Given the description of an element on the screen output the (x, y) to click on. 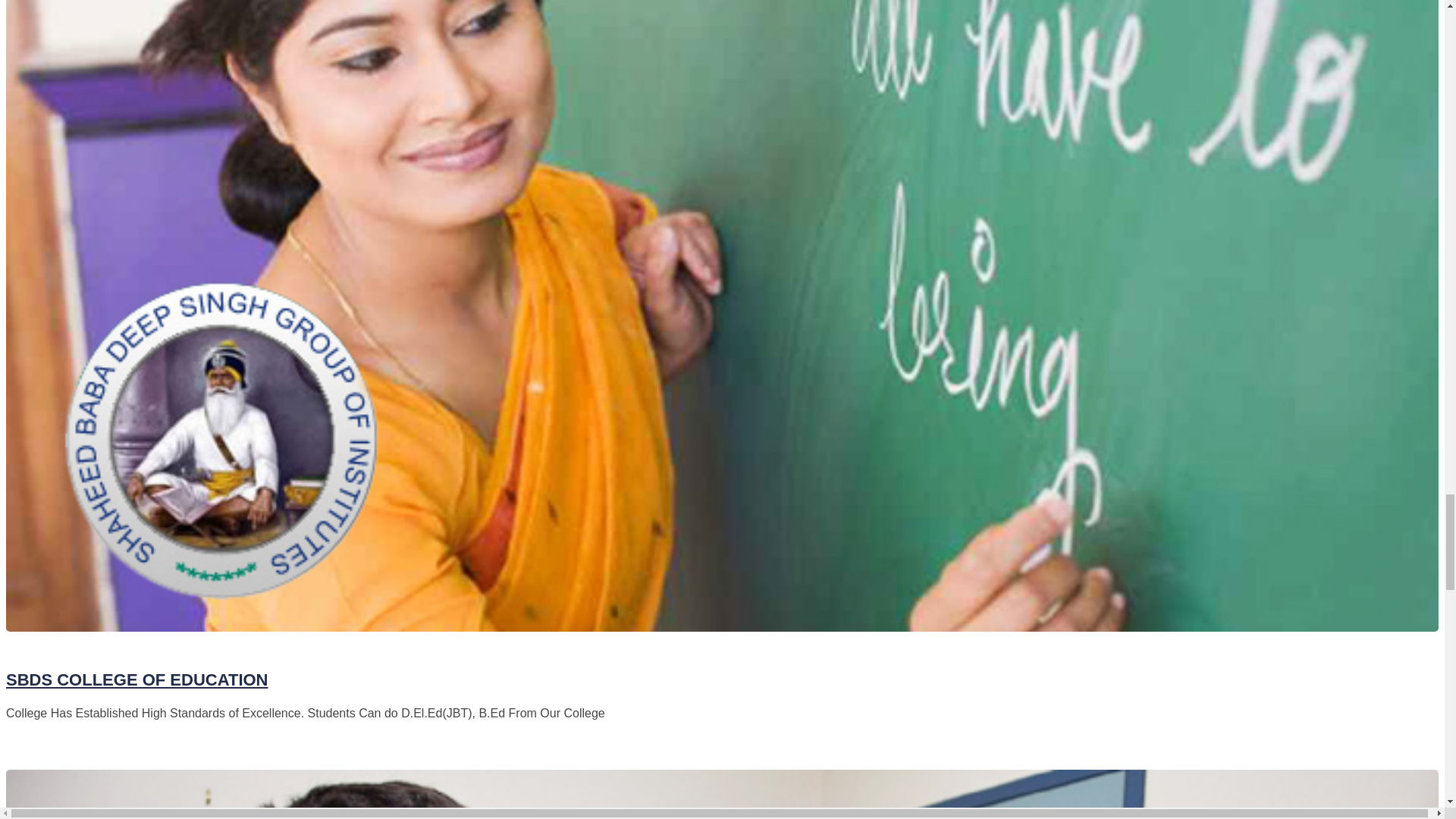
SBDS COLLEGE OF EDUCATION (136, 679)
